Given the description of an element on the screen output the (x, y) to click on. 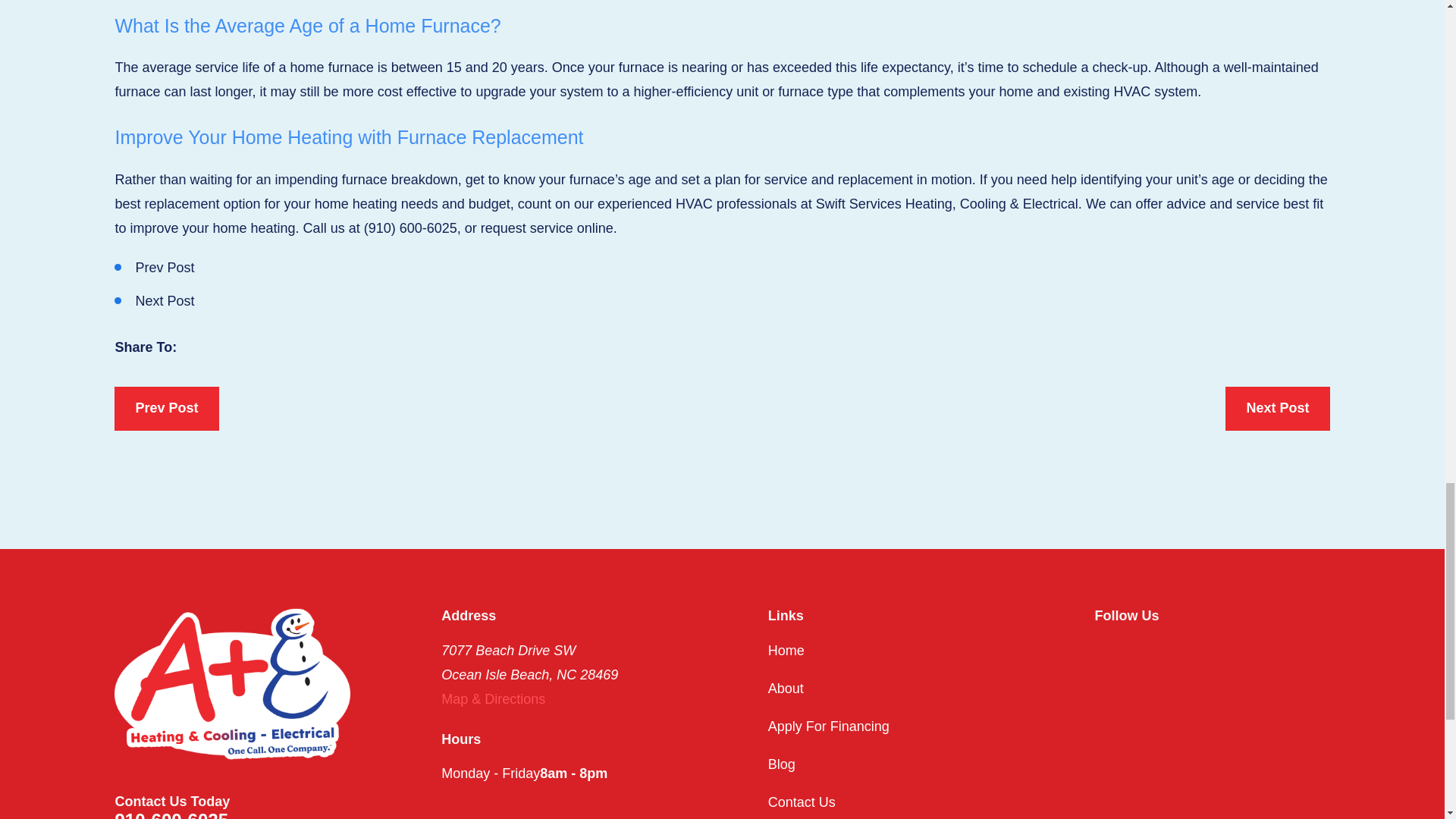
Home (232, 684)
Facebook (1103, 647)
